Given the description of an element on the screen output the (x, y) to click on. 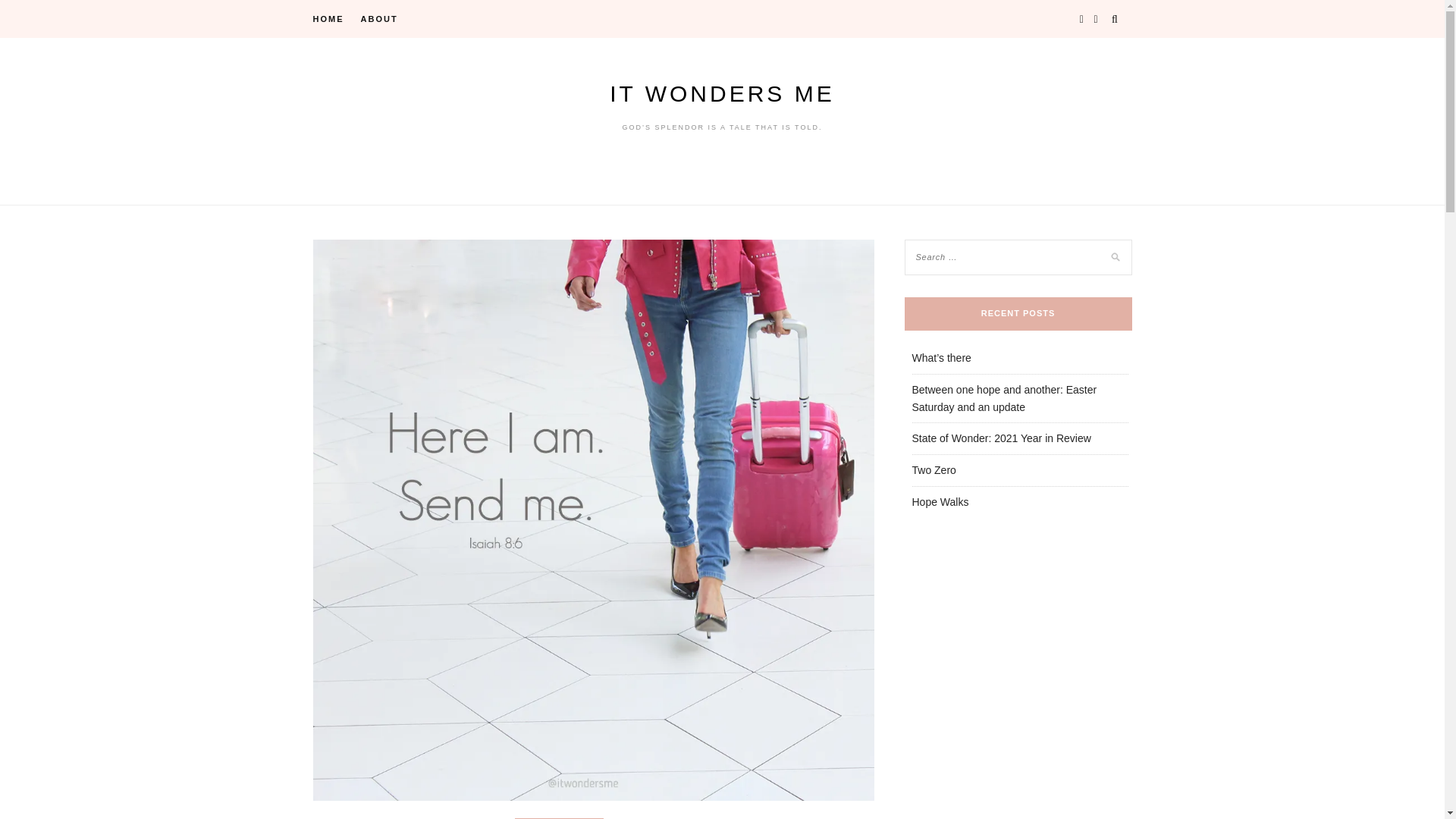
ABOUT (379, 18)
IT WONDERS ME (722, 93)
